Given the description of an element on the screen output the (x, y) to click on. 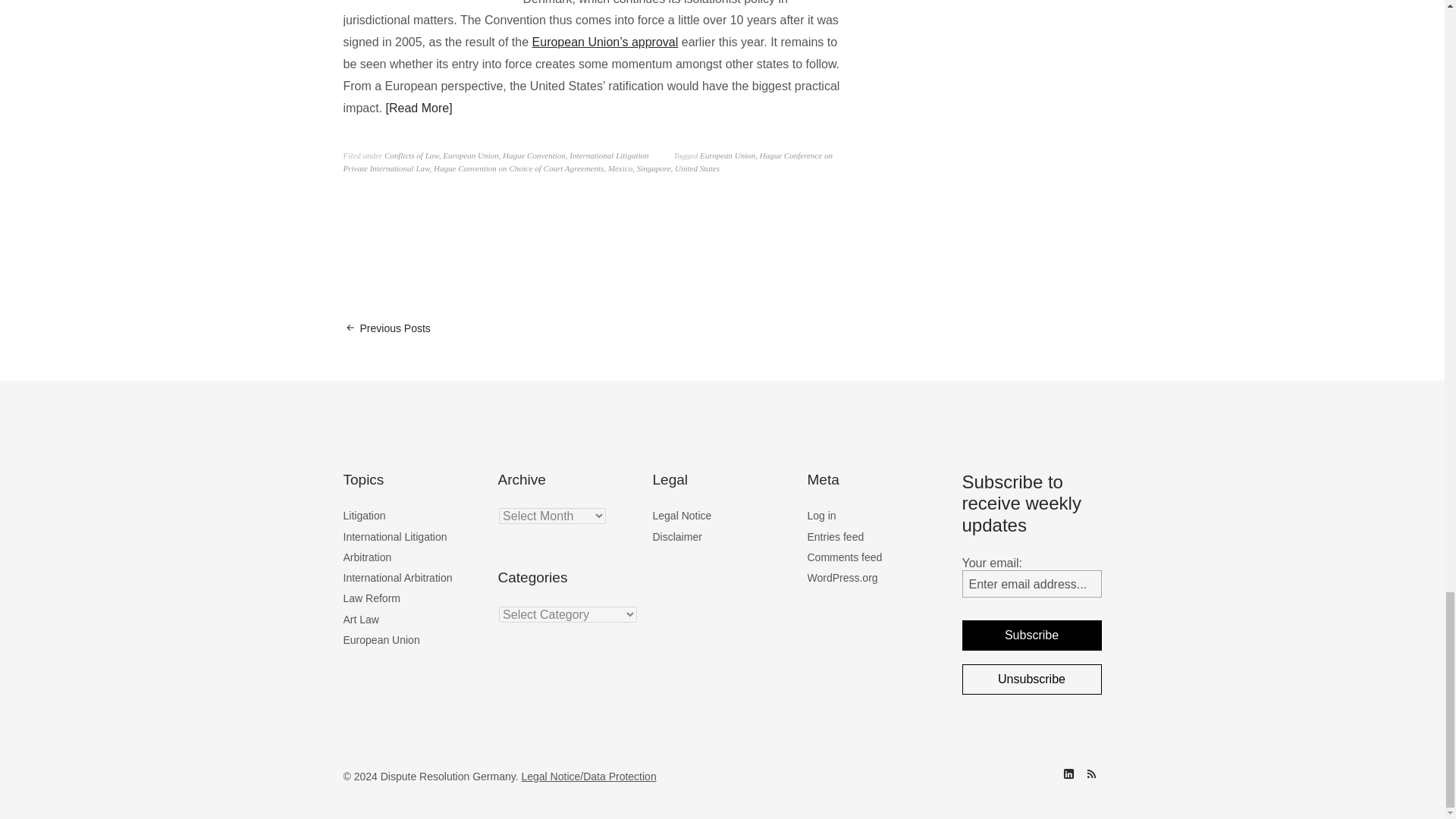
Unsubscribe (1030, 679)
Enter email address... (1030, 583)
European Union: Progress on the Choice of Court Convention (605, 42)
Subscribe (1030, 634)
